Given the description of an element on the screen output the (x, y) to click on. 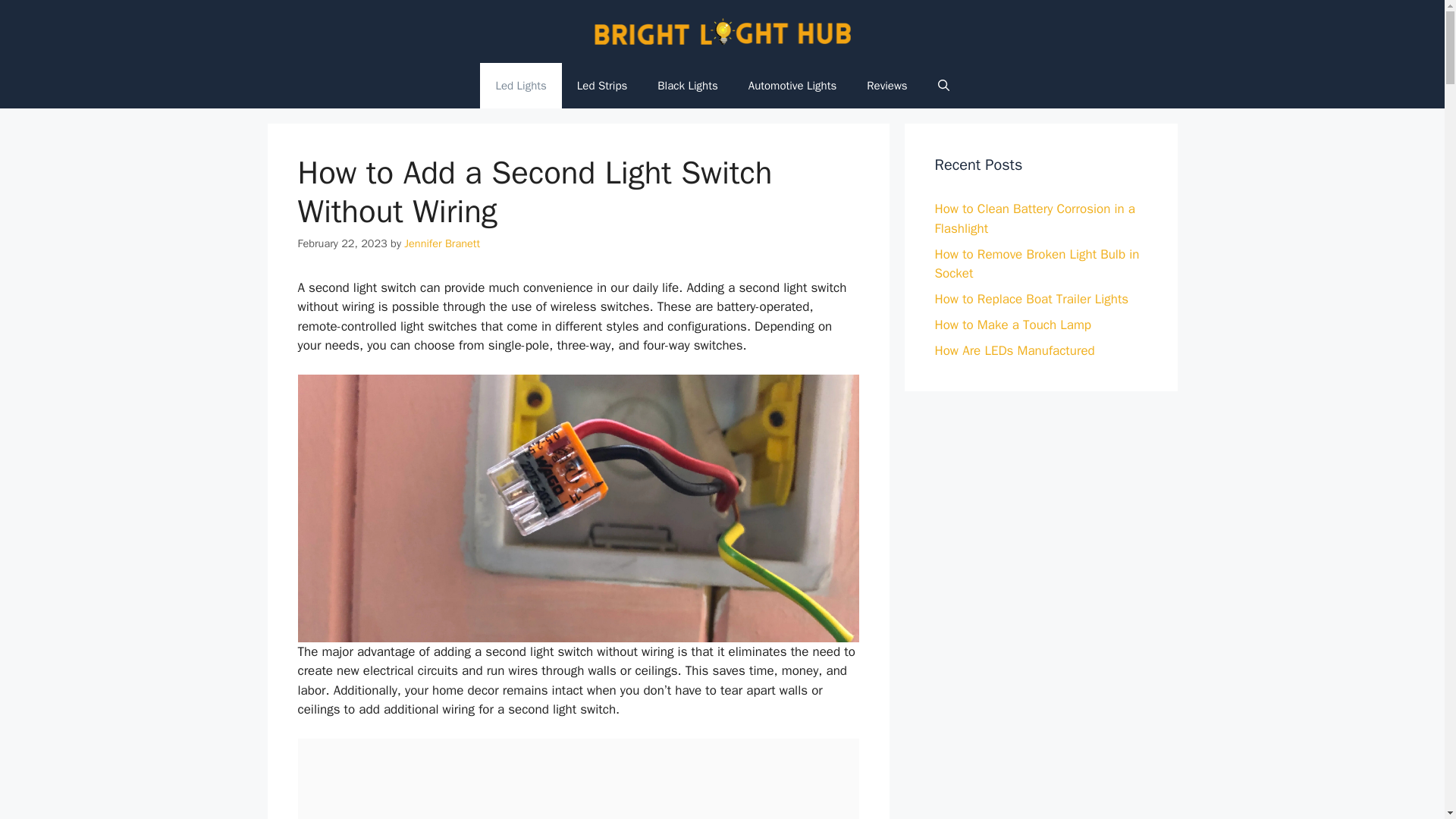
How to Make a Touch Lamp (1012, 324)
How Are LEDs Manufactured (1014, 350)
Automotive Lights (792, 85)
How to Replace Boat Trailer Lights (1031, 299)
View all posts by Jennifer Branett (442, 243)
Led Strips (602, 85)
Black Lights (687, 85)
How to Remove Broken Light Bulb in Socket (1036, 263)
Reviews (886, 85)
How to Clean Battery Corrosion in a Flashlight (1034, 218)
Led Lights (520, 85)
Jennifer Branett (442, 243)
